Given the description of an element on the screen output the (x, y) to click on. 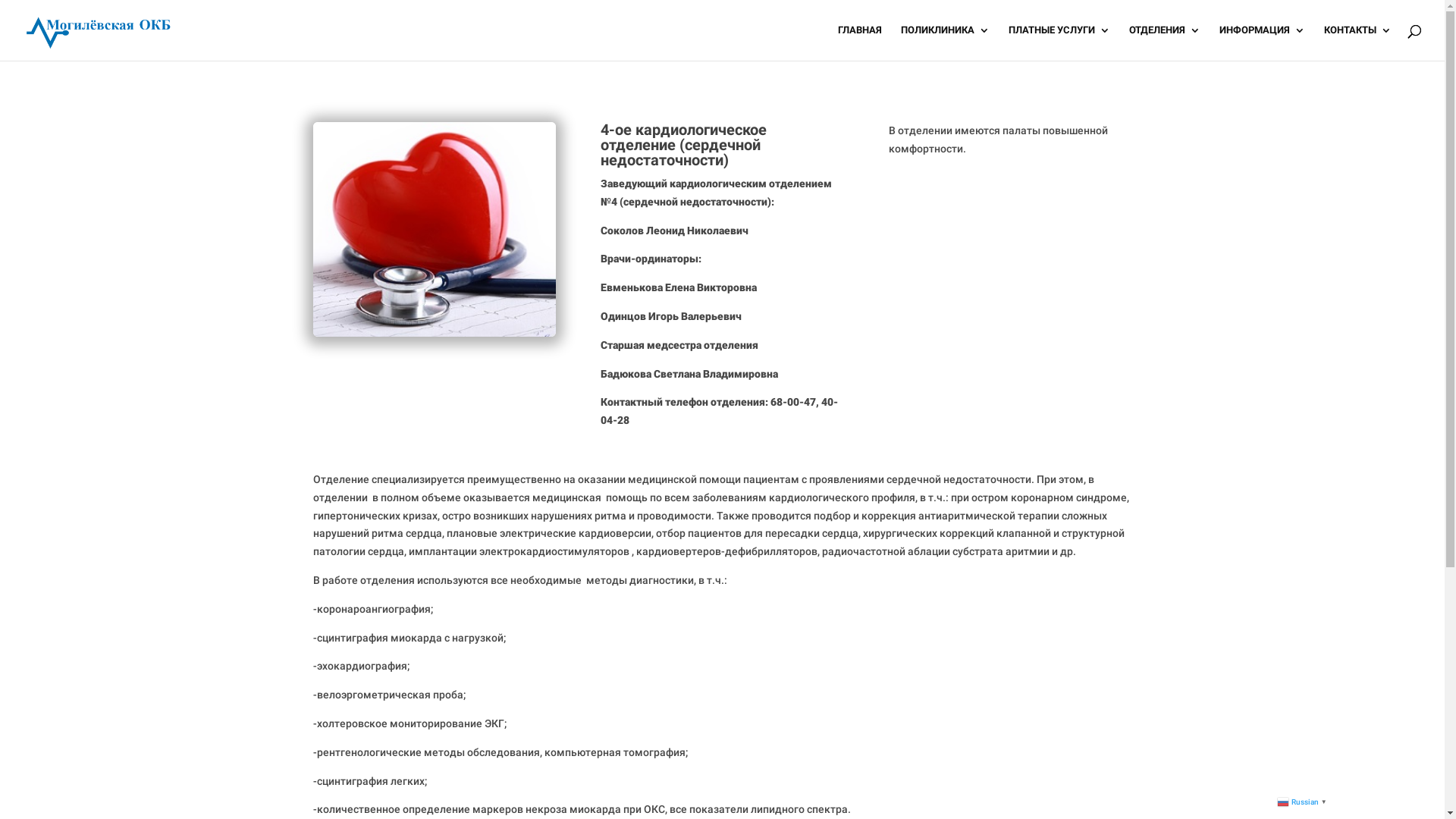
departments-img5 Element type: hover (433, 229)
